Given the description of an element on the screen output the (x, y) to click on. 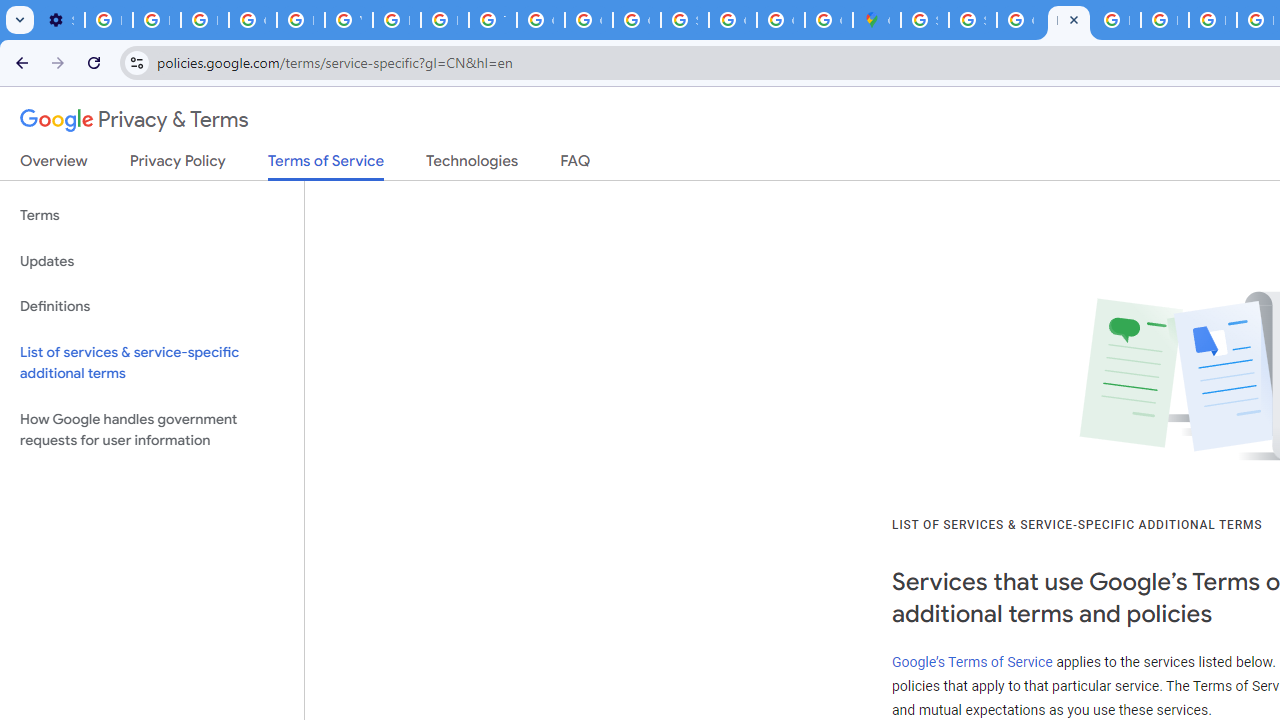
Settings - Customize profile (60, 20)
Delete photos & videos - Computer - Google Photos Help (108, 20)
Privacy Help Center - Policies Help (300, 20)
Google Maps (876, 20)
Privacy Help Center - Policies Help (444, 20)
Privacy Help Center - Policies Help (1164, 20)
